Given the description of an element on the screen output the (x, y) to click on. 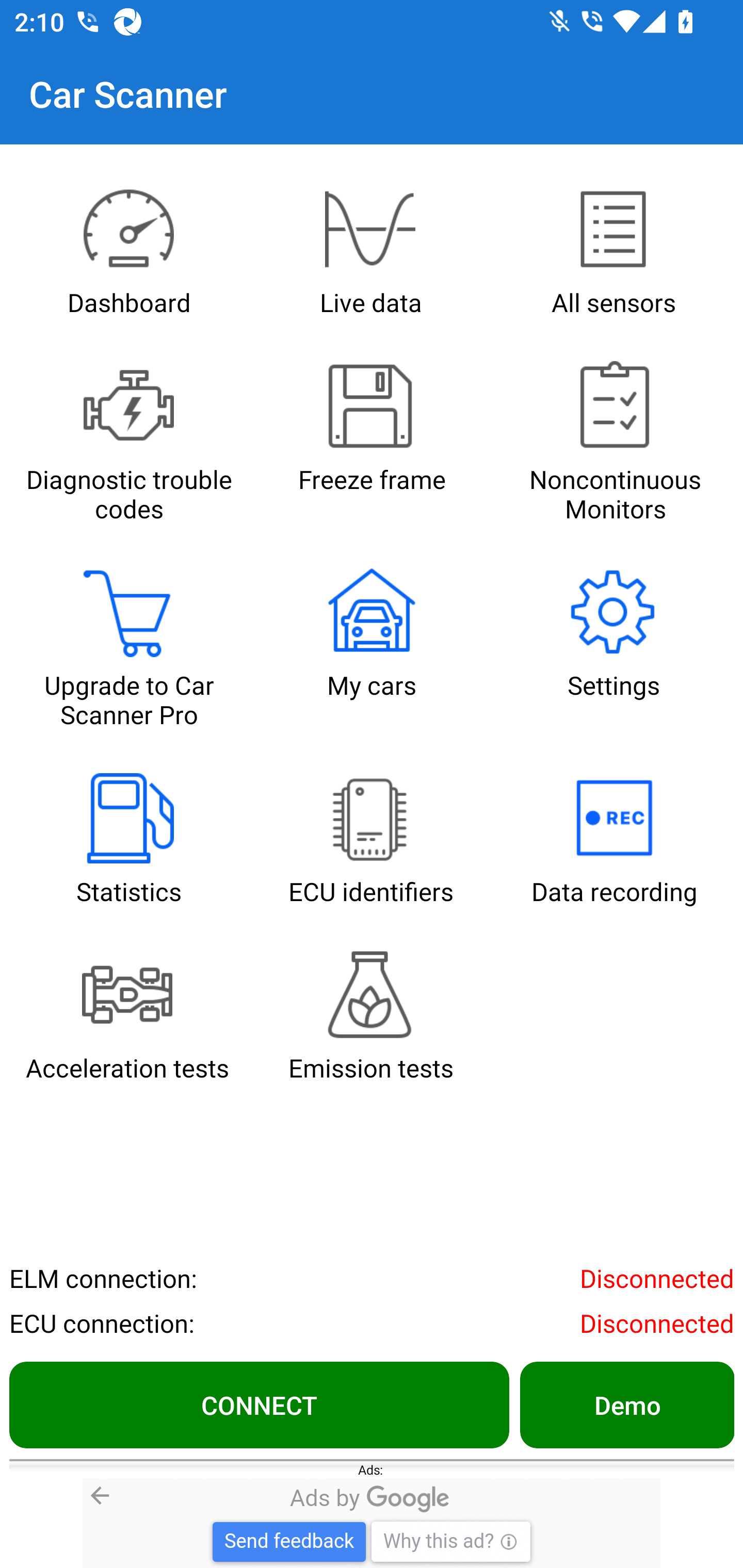
CONNECT (258, 1404)
Demo (627, 1404)
